Given the description of an element on the screen output the (x, y) to click on. 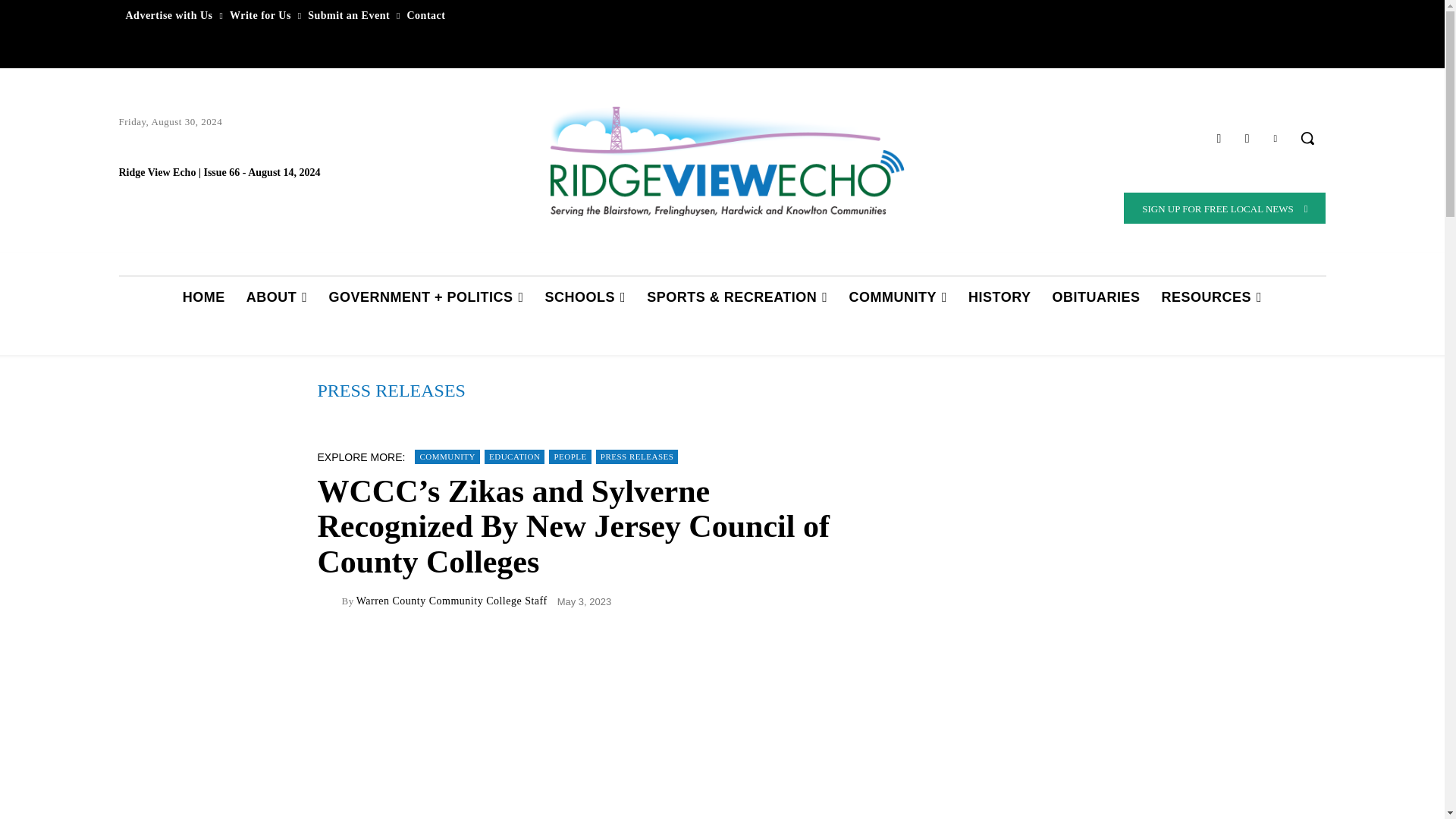
Linkedin (1275, 137)
Warren County Community College Staff (328, 600)
Sign up for Free local news (1224, 207)
Facebook (1218, 137)
Instagram (1246, 137)
